Given the description of an element on the screen output the (x, y) to click on. 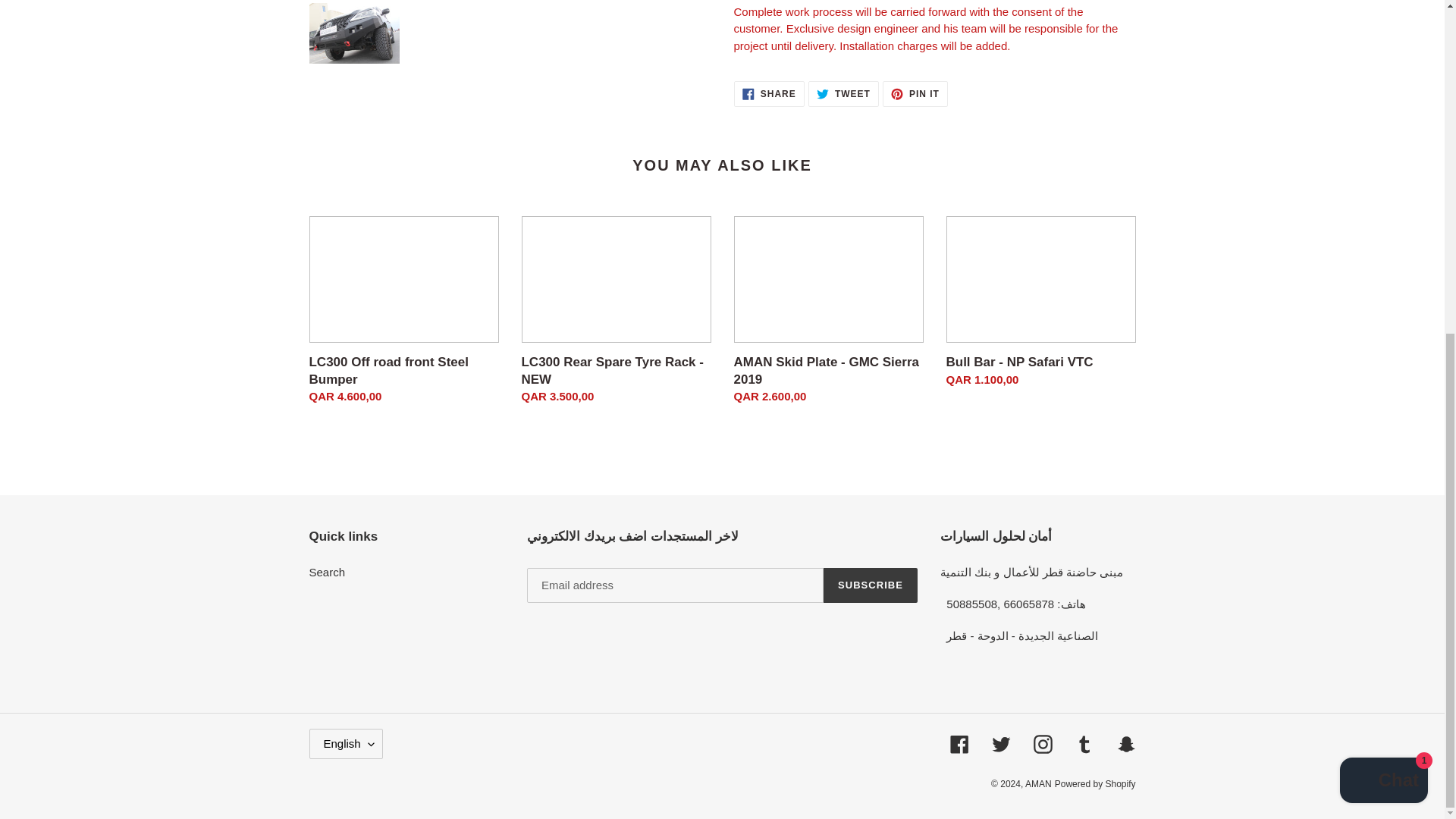
Shopify online store chat (1383, 225)
